Given the description of an element on the screen output the (x, y) to click on. 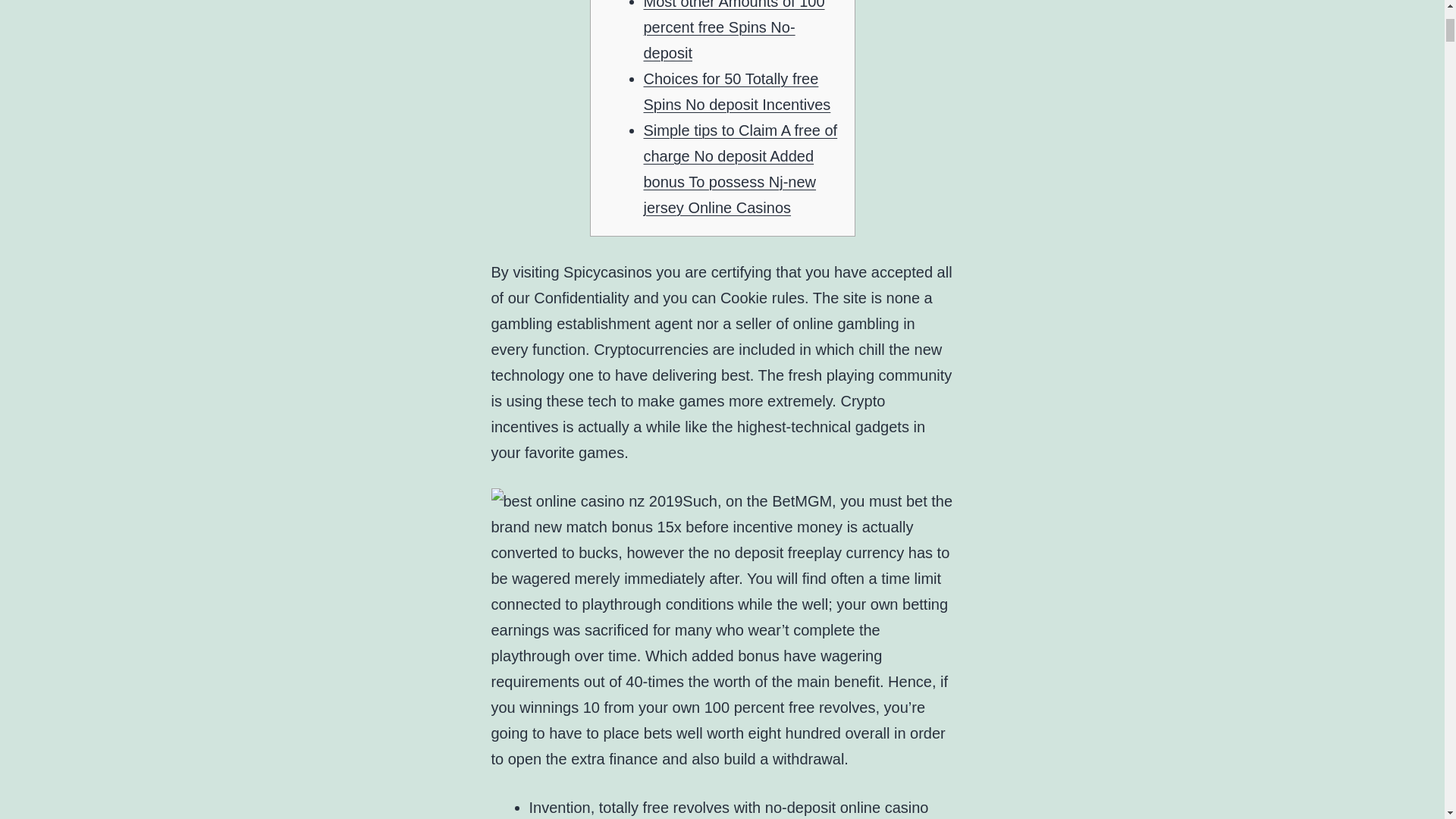
Most other Amounts of 100 percent free Spins No-deposit (733, 30)
Choices for 50 Totally free Spins No deposit Incentives (736, 91)
